Given the description of an element on the screen output the (x, y) to click on. 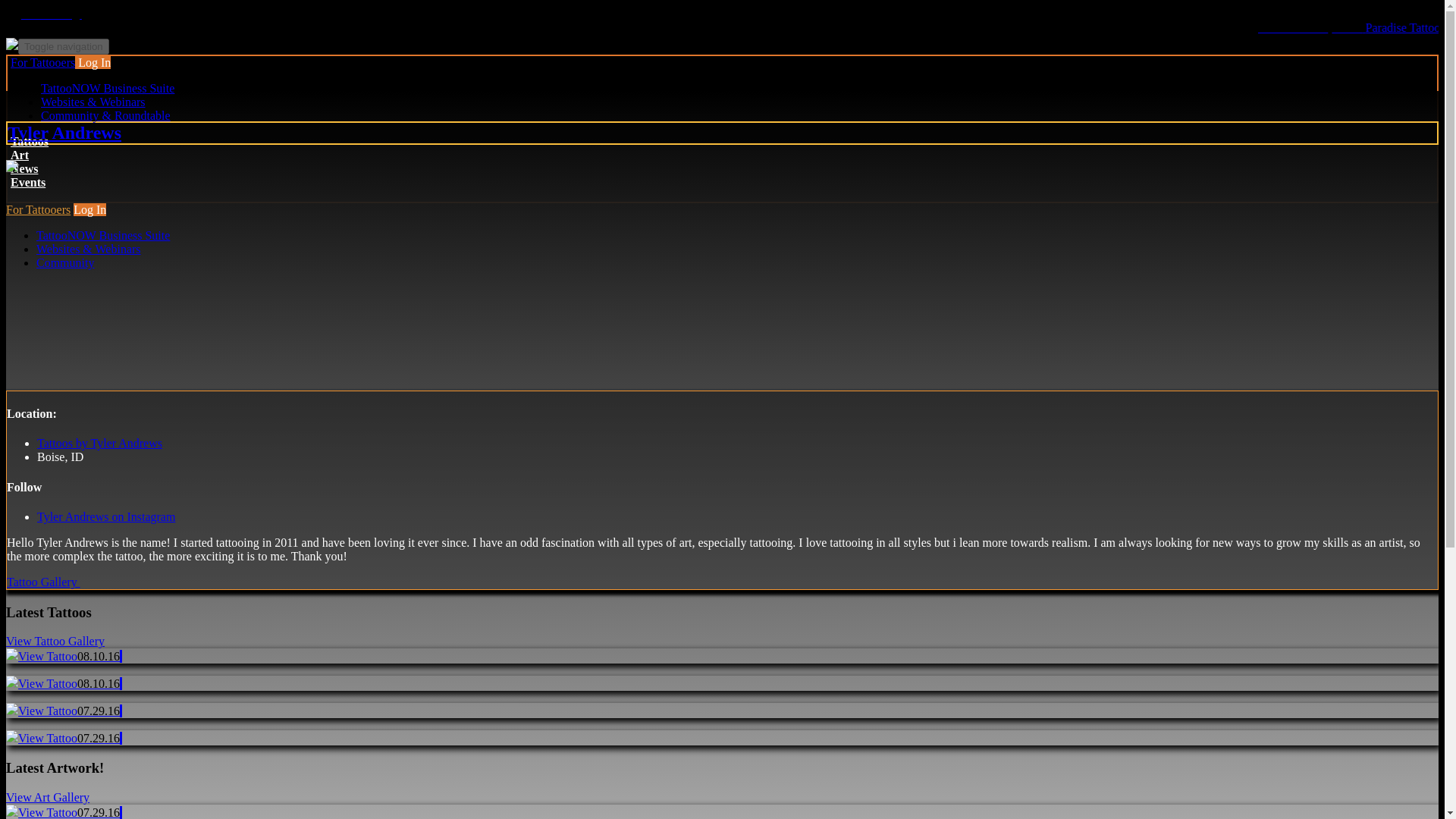
Tattoos (29, 141)
For Tattooers (37, 209)
TattooNOW Business Suite (103, 235)
Log In (90, 209)
View Tattoo07.29.16 (62, 738)
News (23, 168)
View Tattoo Gallery (54, 640)
Tyler Andrews on Instagram (105, 516)
Art (19, 154)
Community (65, 262)
